Given the description of an element on the screen output the (x, y) to click on. 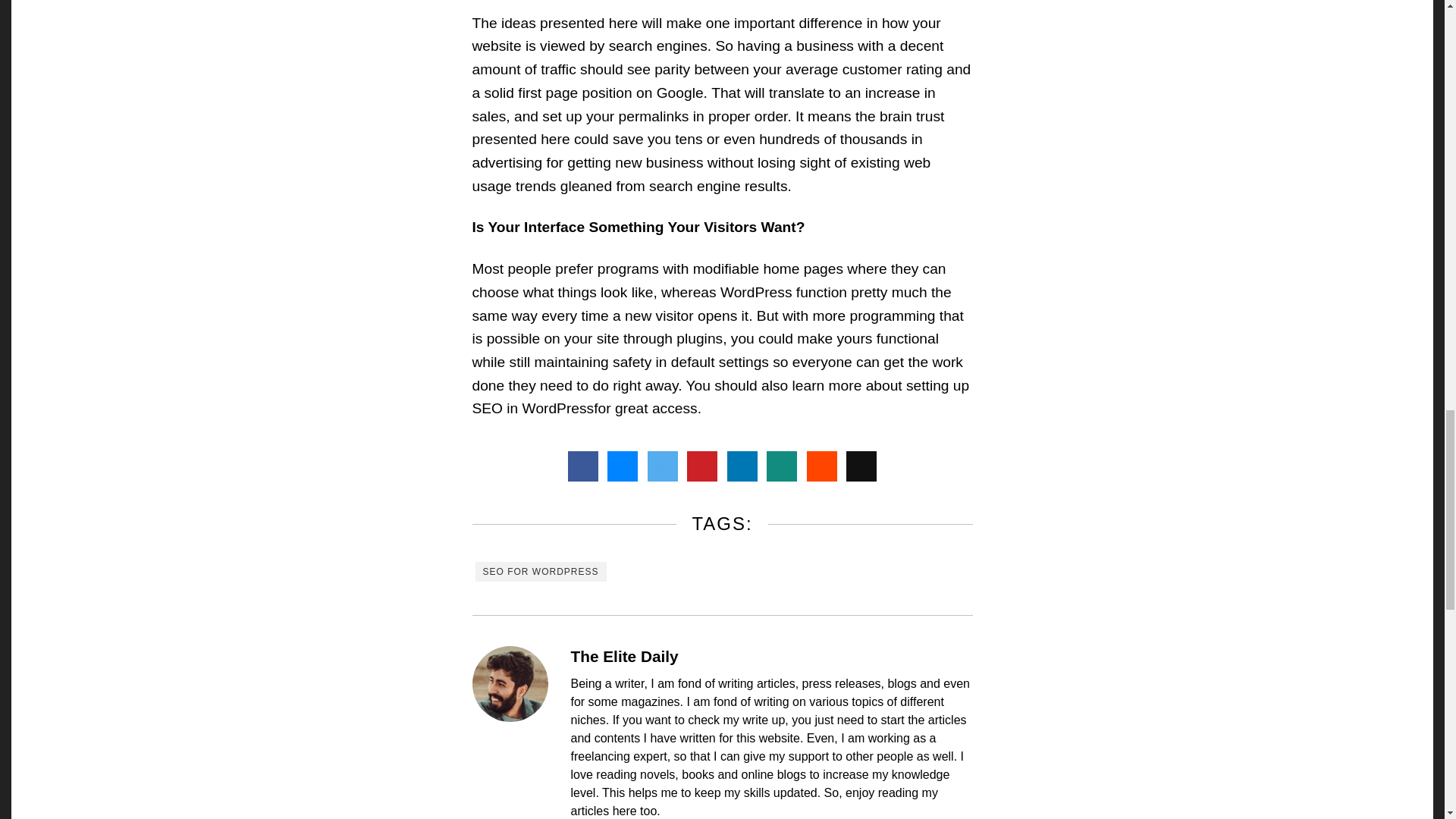
Facebook (582, 466)
Pinterest (702, 466)
Reddit (821, 466)
Twitter (662, 466)
SEO FOR WORDPRESS (539, 571)
Email (860, 466)
The Elite Daily (624, 656)
Whatsapp (781, 466)
Messenger (622, 466)
Linkedin (741, 466)
